Given the description of an element on the screen output the (x, y) to click on. 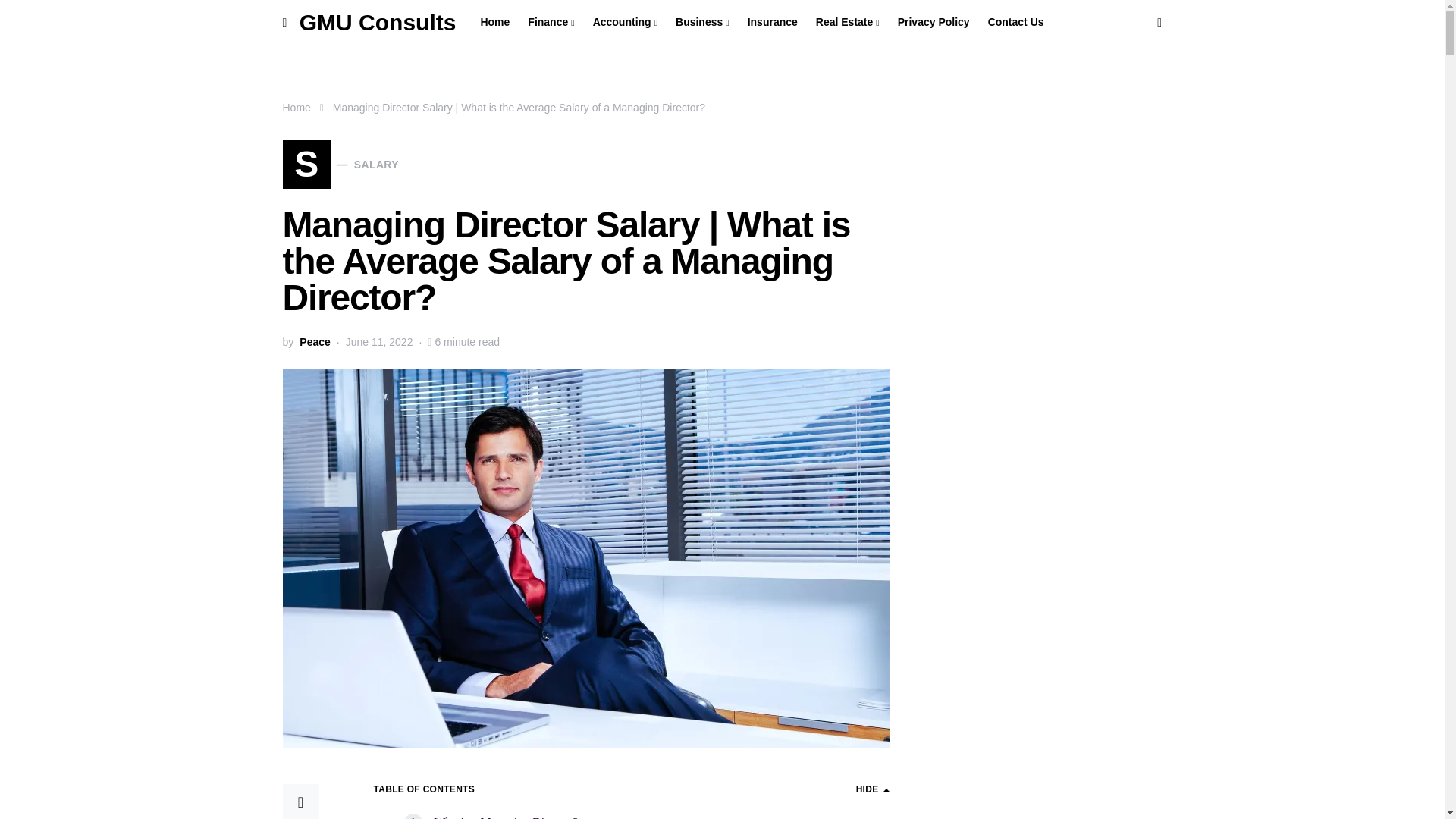
View all posts by Peace (314, 342)
